Given the description of an element on the screen output the (x, y) to click on. 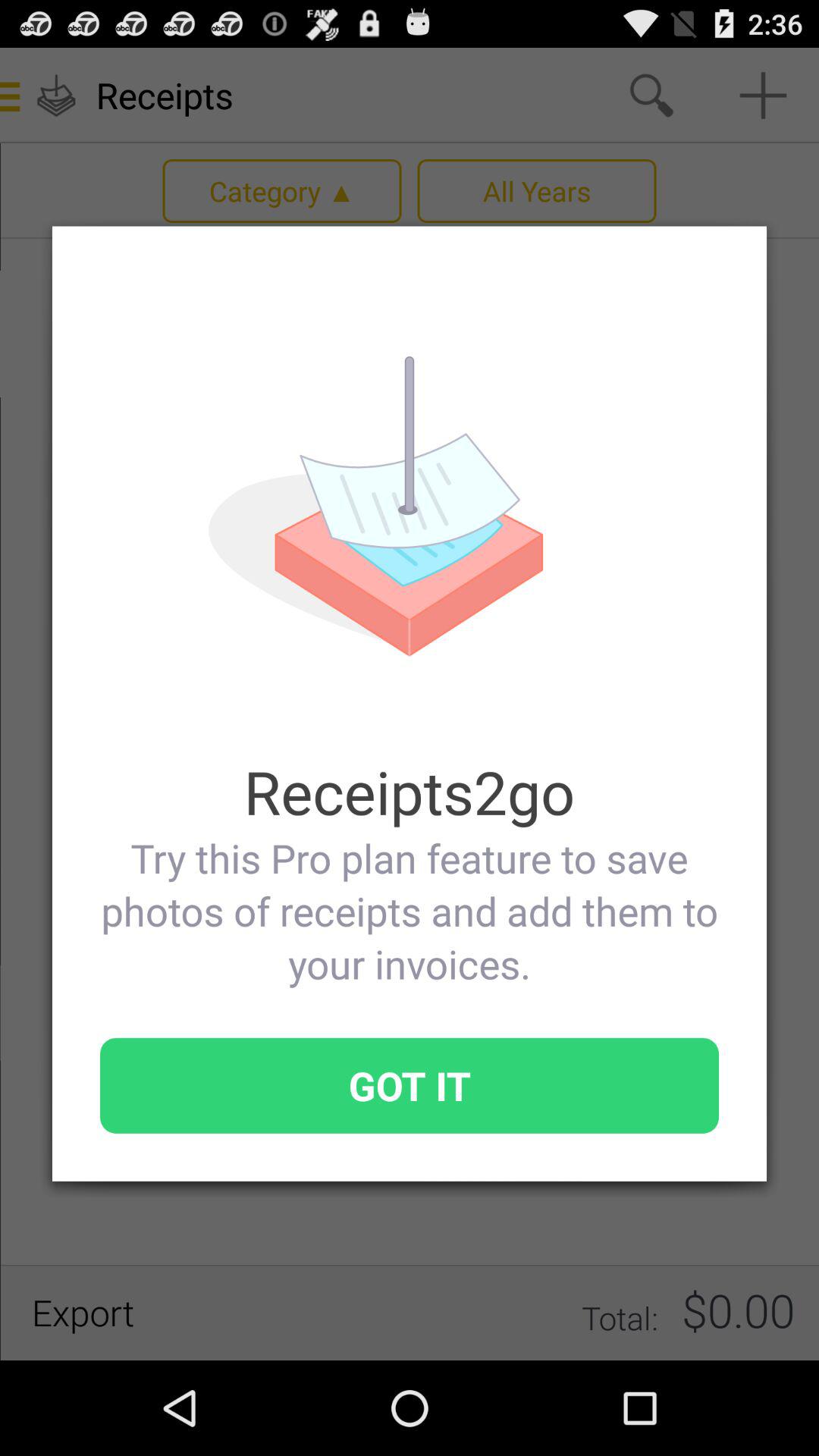
turn off item at the bottom (409, 1085)
